Given the description of an element on the screen output the (x, y) to click on. 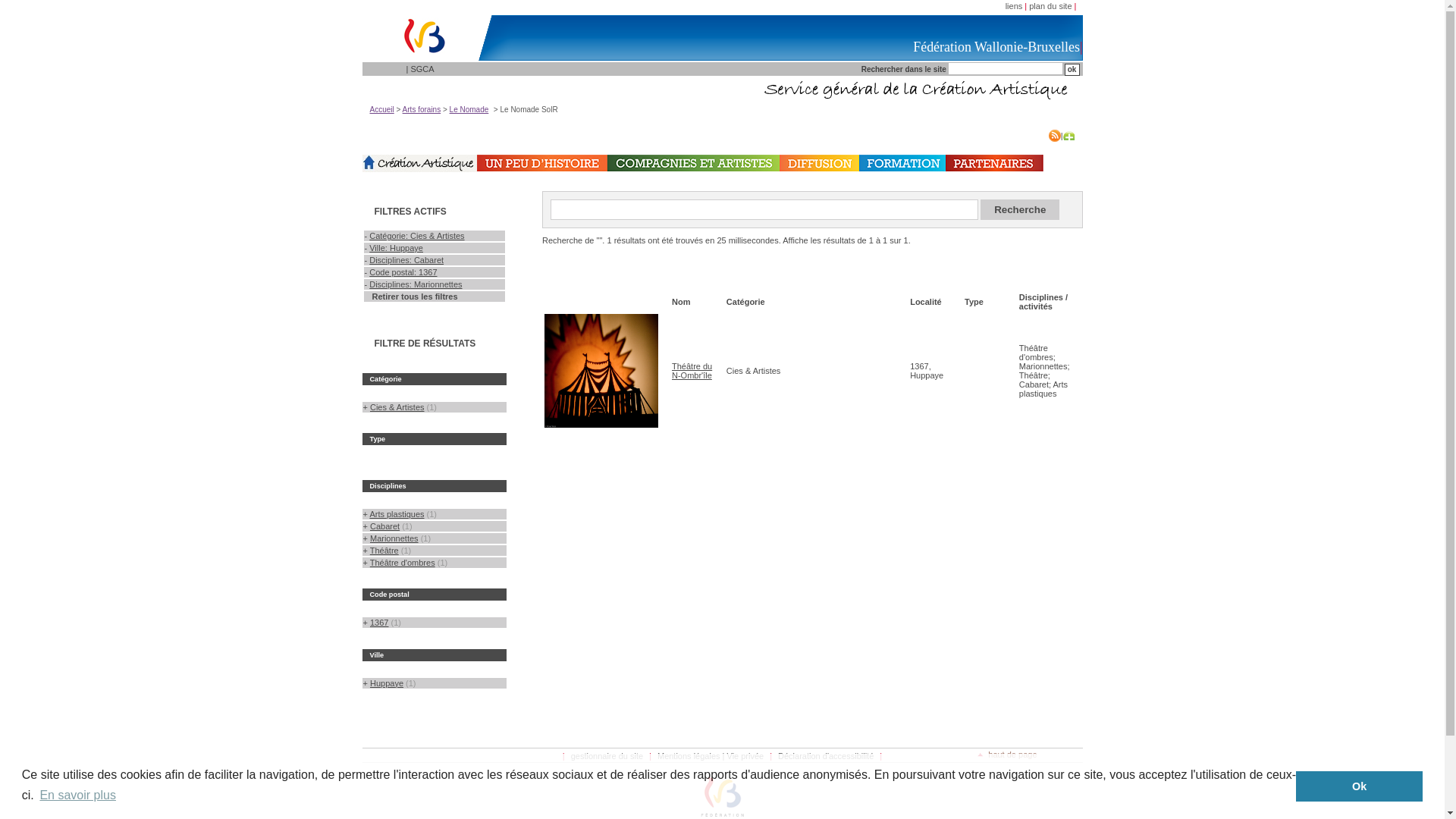
Plus de choix Element type: hover (1068, 135)
rechercher Element type: hover (1071, 69)
haut de page Element type: text (1006, 754)
Marionnettes Element type: text (394, 537)
Un peu d'histoire Element type: hover (541, 162)
Le Nomade Element type: text (469, 109)
Cies & Artistes Element type: text (397, 406)
Accueil Element type: text (382, 109)
Code postal: 1367 Element type: text (402, 271)
plan du site Element type: text (1050, 5)
Huppaye Element type: text (386, 682)
ok Element type: text (1071, 69)
Disciplines: Cabaret Element type: text (406, 259)
Opens external link in new window Element type: hover (419, 168)
Recherche Element type: text (1019, 209)
liens Element type: text (1013, 5)
Cabaret Element type: text (384, 525)
Compagnies et artistes Element type: hover (692, 162)
Ok Element type: text (1358, 786)
Partenaires Element type: hover (993, 162)
En savoir plus Element type: text (77, 795)
Ville: Huppaye Element type: text (396, 247)
Disciplines: Marionnettes Element type: text (415, 283)
Arts forains Element type: text (421, 109)
Retirer tous les filtres Element type: text (410, 296)
1367 Element type: text (379, 622)
LeNomade Element type: hover (419, 163)
Formation Element type: hover (901, 162)
Arts plastiques Element type: text (396, 513)
gestionnaire du site Element type: text (607, 755)
Diffusion Element type: hover (819, 162)
